Given the description of an element on the screen output the (x, y) to click on. 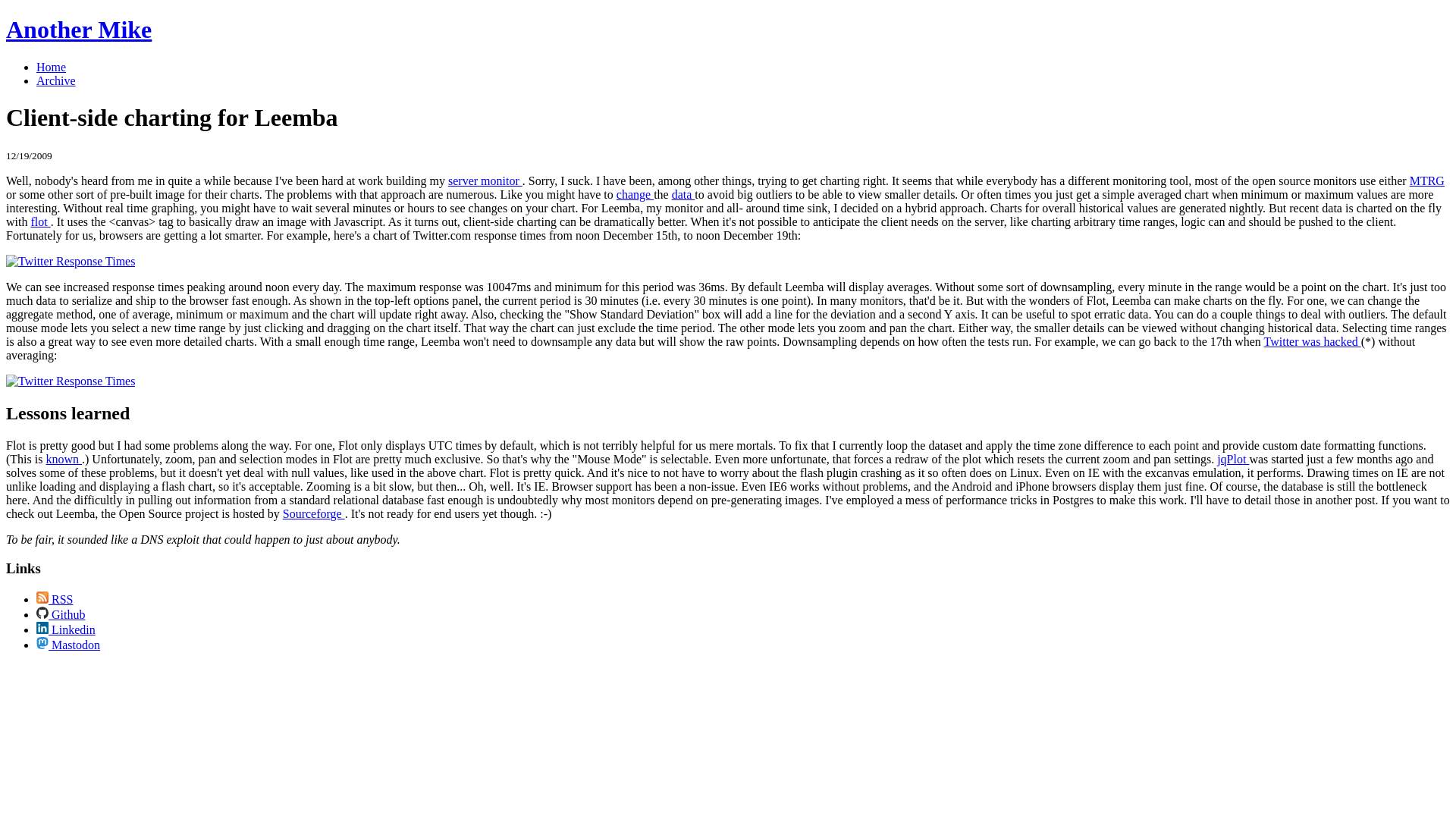
Sourceforge (313, 513)
Home (50, 66)
data (683, 194)
Github (60, 614)
change (634, 194)
Monitoring Twitter (70, 261)
Another Mike (78, 29)
Twitter was hacked (1312, 341)
Archive (55, 80)
server monitor (485, 180)
